Given the description of an element on the screen output the (x, y) to click on. 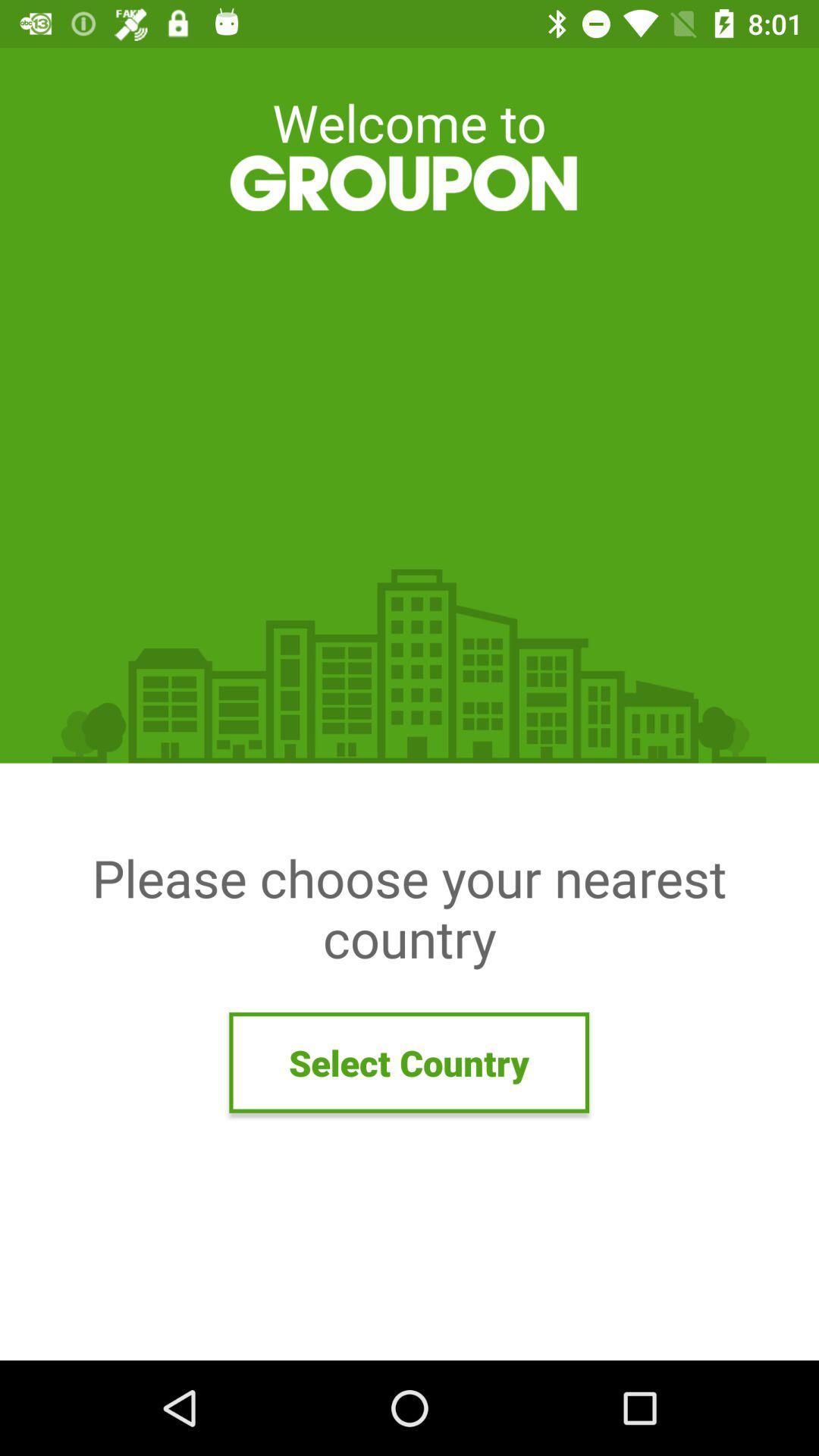
press the select country (409, 1062)
